Given the description of an element on the screen output the (x, y) to click on. 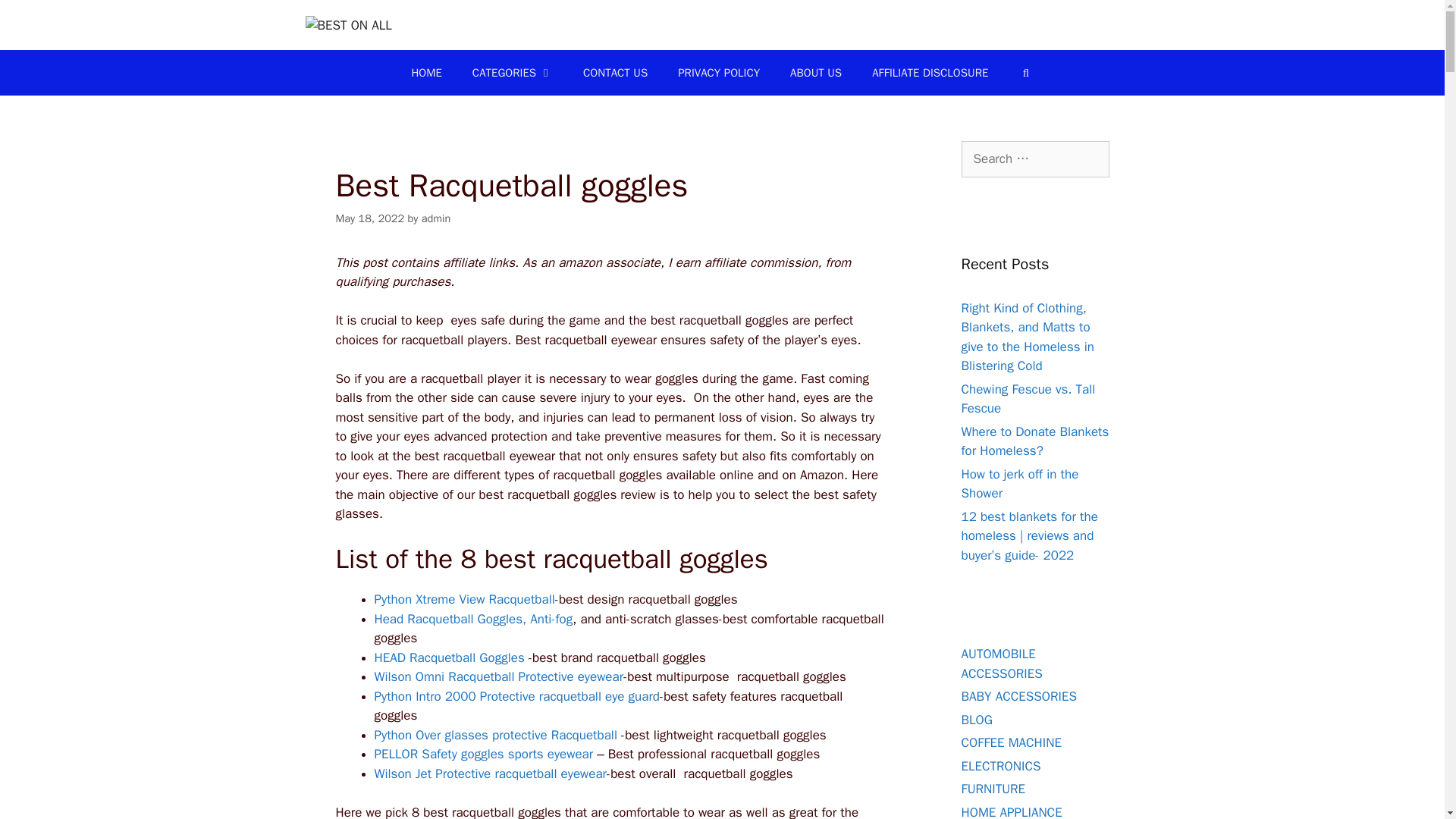
BEST ON ALL (347, 25)
PRIVACY POLICY (718, 72)
Python Xtreme View Racquetball (464, 599)
CATEGORIES (512, 72)
BEST ON ALL (347, 24)
admin (436, 218)
PELLOR Safety goggles sports eyewear (484, 754)
Head Racquetball Goggles, Anti-fog (473, 618)
Wilson Jet Protective racquetball eyewear (490, 773)
AFFILIATE DISCLOSURE (930, 72)
